Given the description of an element on the screen output the (x, y) to click on. 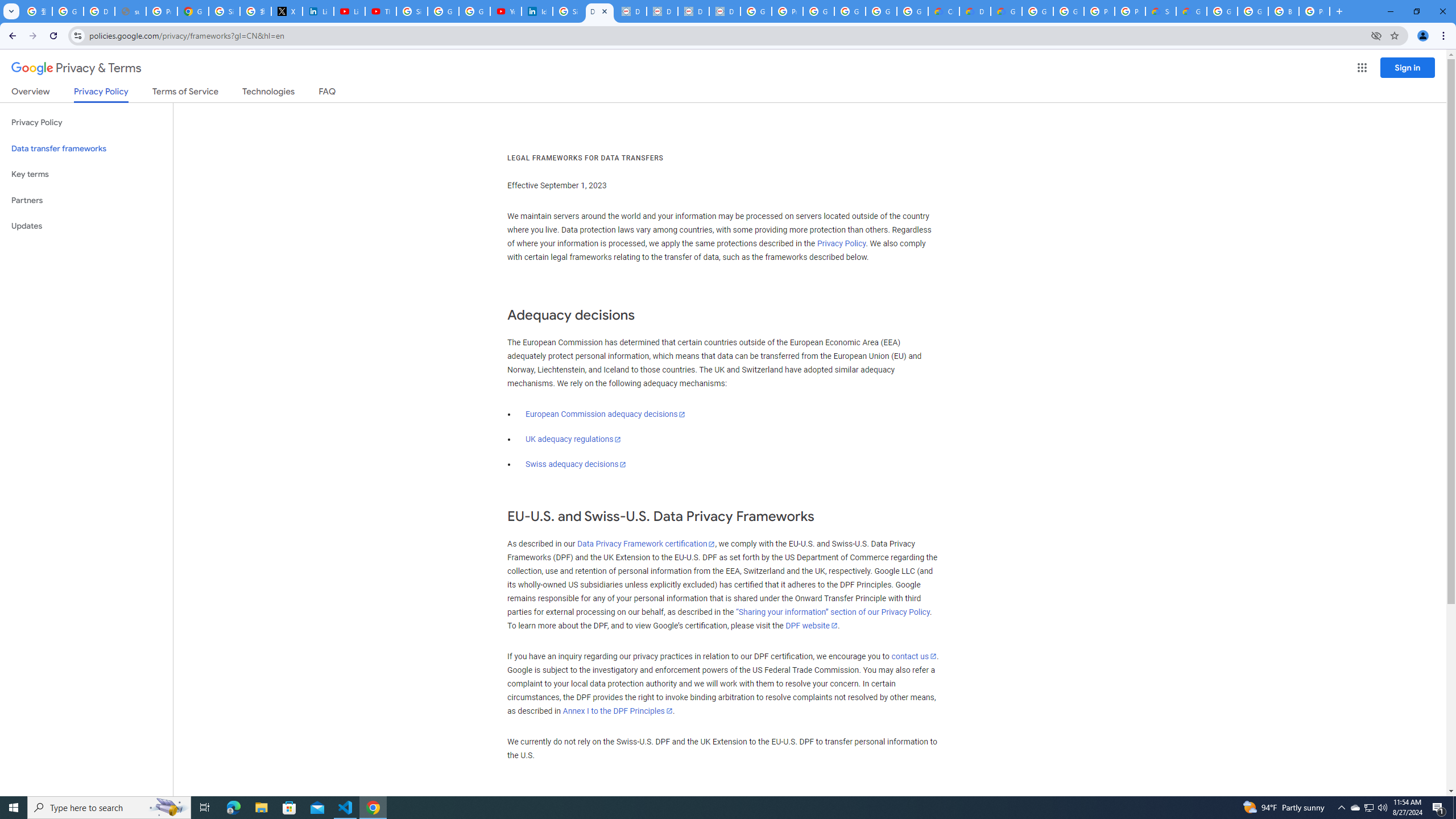
European Commission adequacy decisions (605, 414)
Google Cloud Platform (1068, 11)
Data Privacy Framework (693, 11)
Google Workspace - Specific Terms (912, 11)
Sign in - Google Accounts (223, 11)
UK adequacy regulations (573, 439)
Google Cloud Service Health (1190, 11)
Google Cloud Platform (1222, 11)
